Given the description of an element on the screen output the (x, y) to click on. 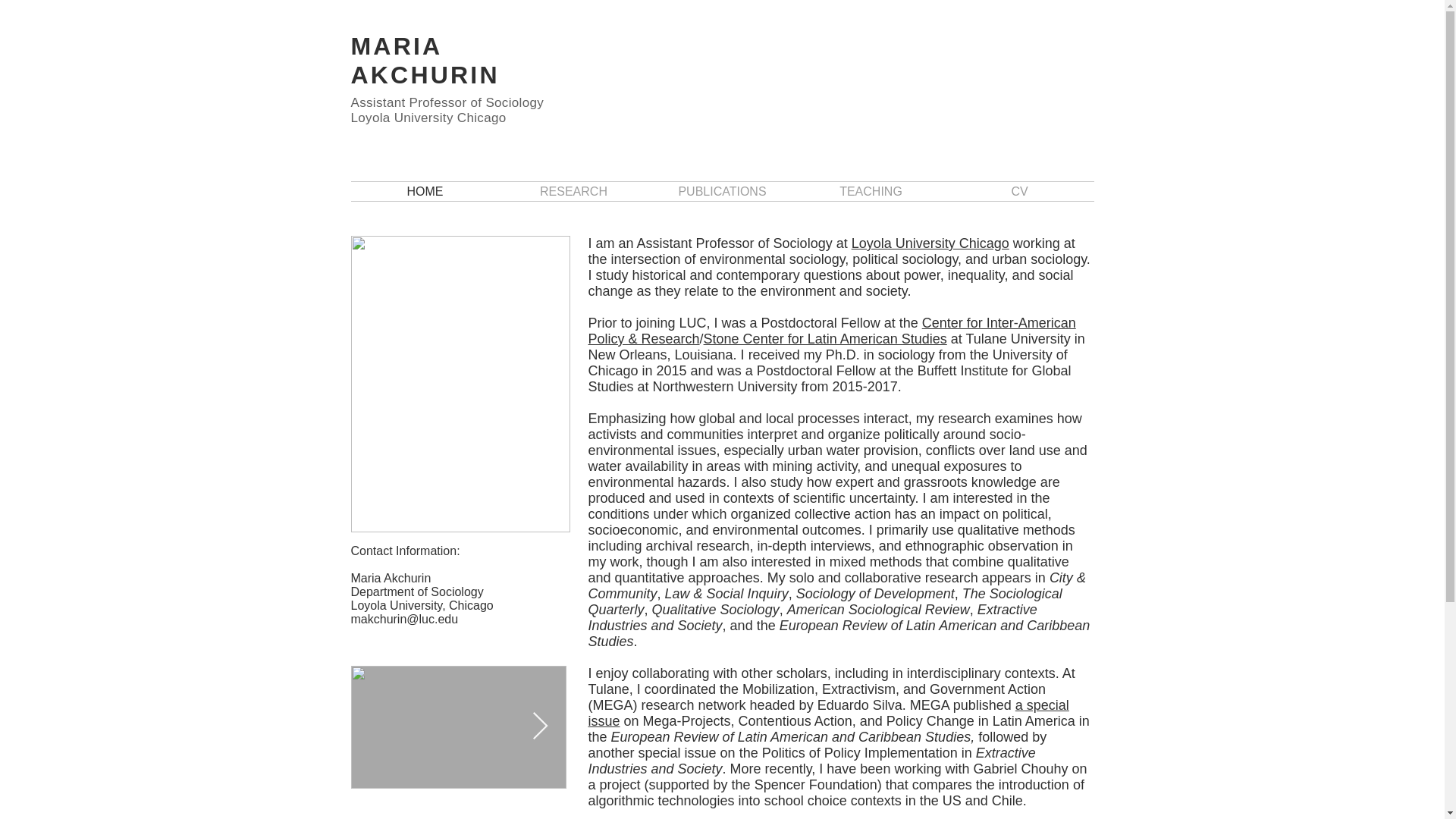
a special issue (828, 712)
Loyola University Chicago (930, 242)
CV (1018, 190)
HOME (424, 190)
Assistant Professor of Sociology (446, 102)
TEACHING (870, 190)
MARIA AKCHURIN (424, 60)
PUBLICATIONS (721, 190)
Stone Center for Latin American Studies (825, 338)
RESEARCH (573, 190)
